Given the description of an element on the screen output the (x, y) to click on. 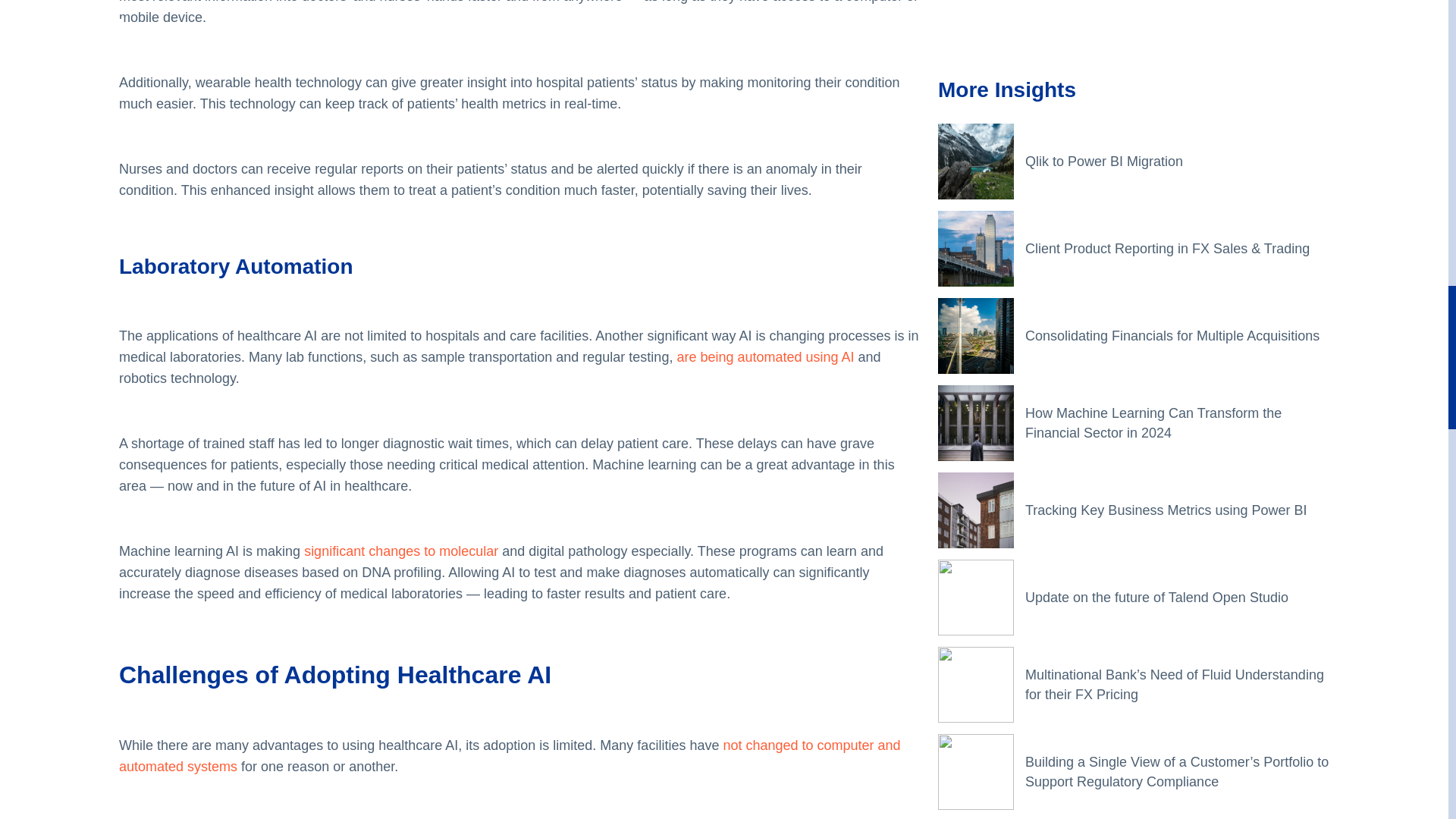
not changed to computer and automated systems (510, 755)
significant changes to molecular (400, 550)
are being automated using AI (765, 356)
